Given the description of an element on the screen output the (x, y) to click on. 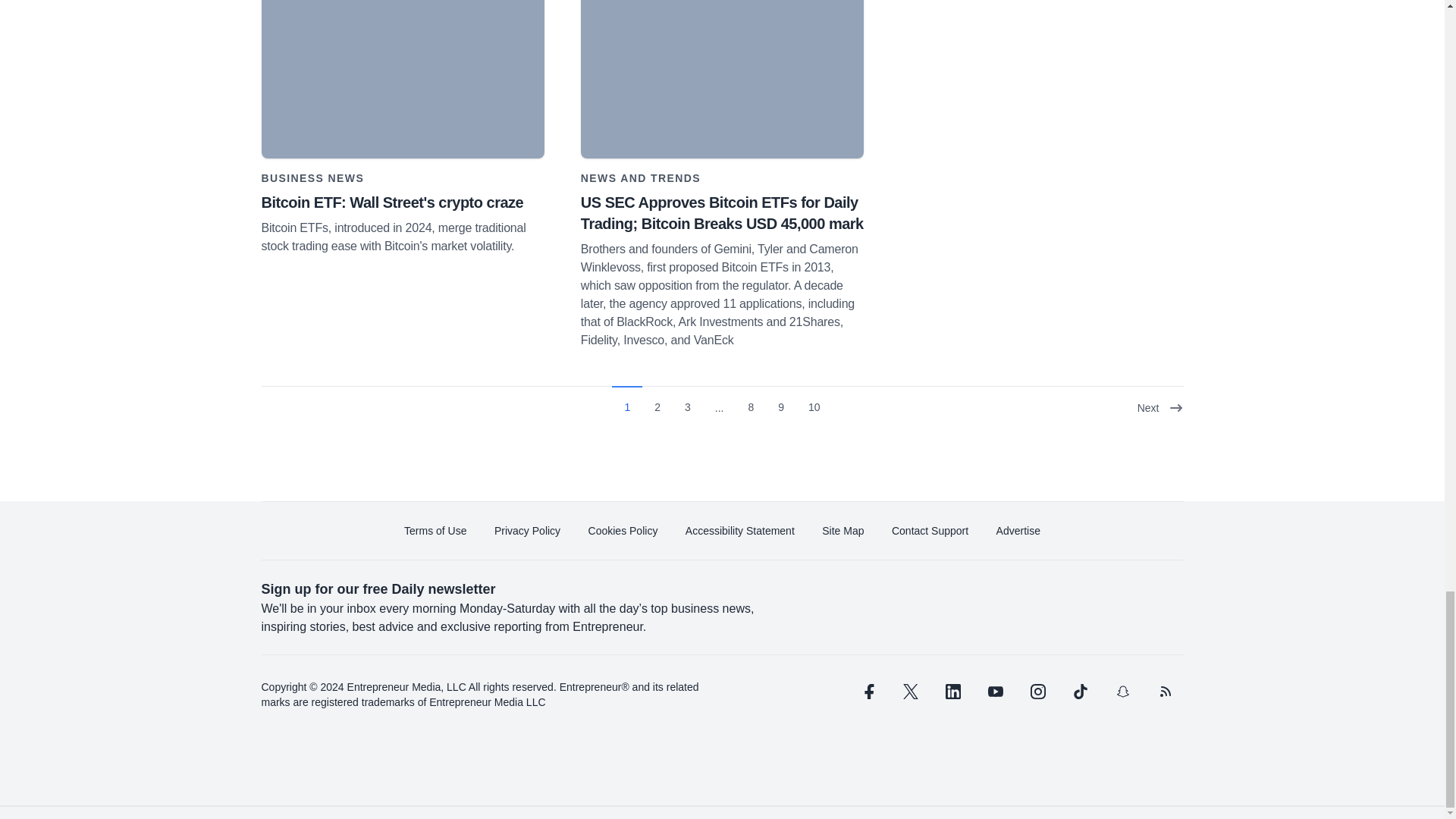
instagram (1037, 691)
youtube (994, 691)
twitter (909, 691)
snapchat (1121, 691)
linkedin (952, 691)
rss (1164, 691)
tiktok (1079, 691)
facebook (866, 691)
